Given the description of an element on the screen output the (x, y) to click on. 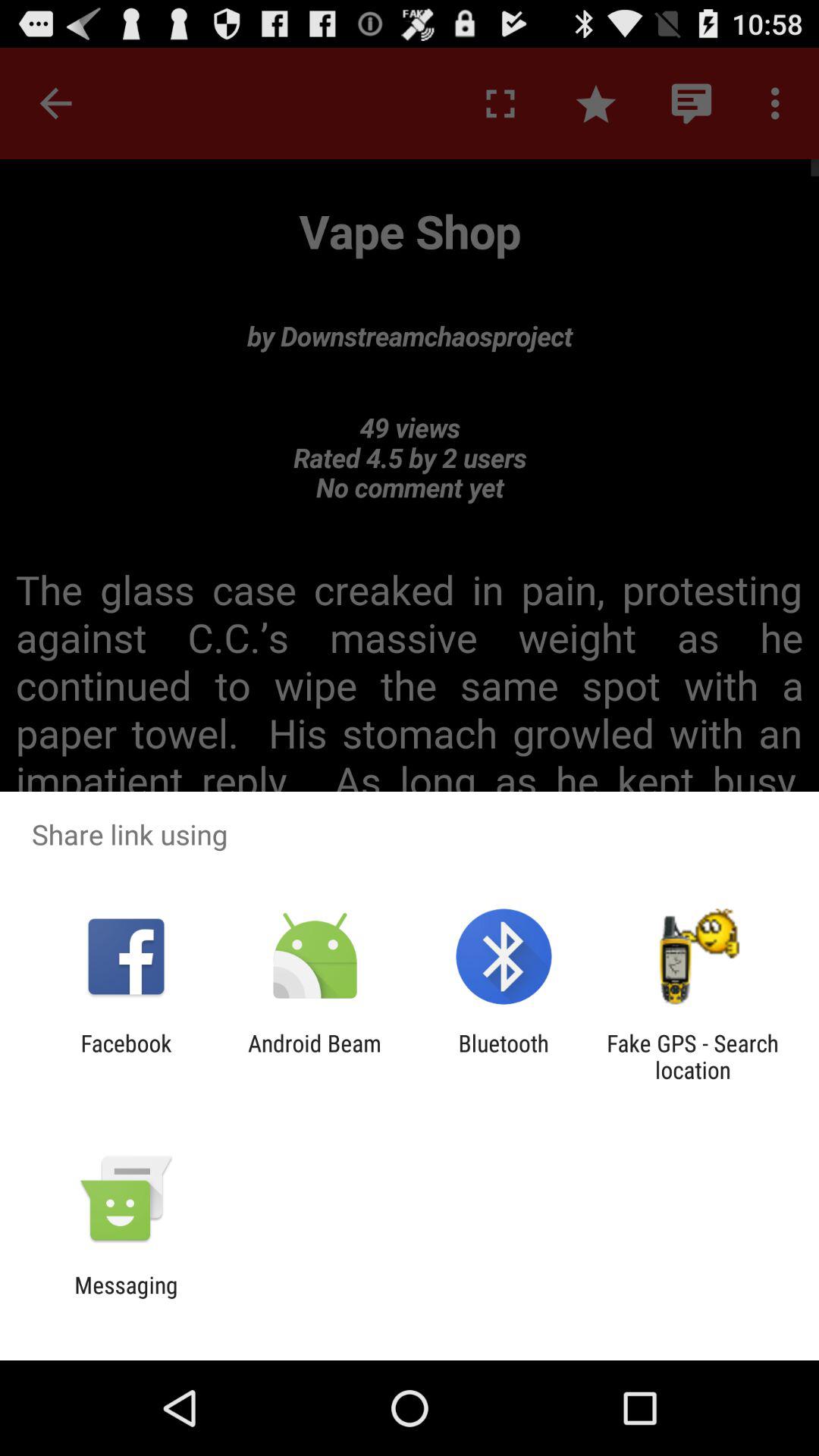
scroll until facebook icon (125, 1056)
